Given the description of an element on the screen output the (x, y) to click on. 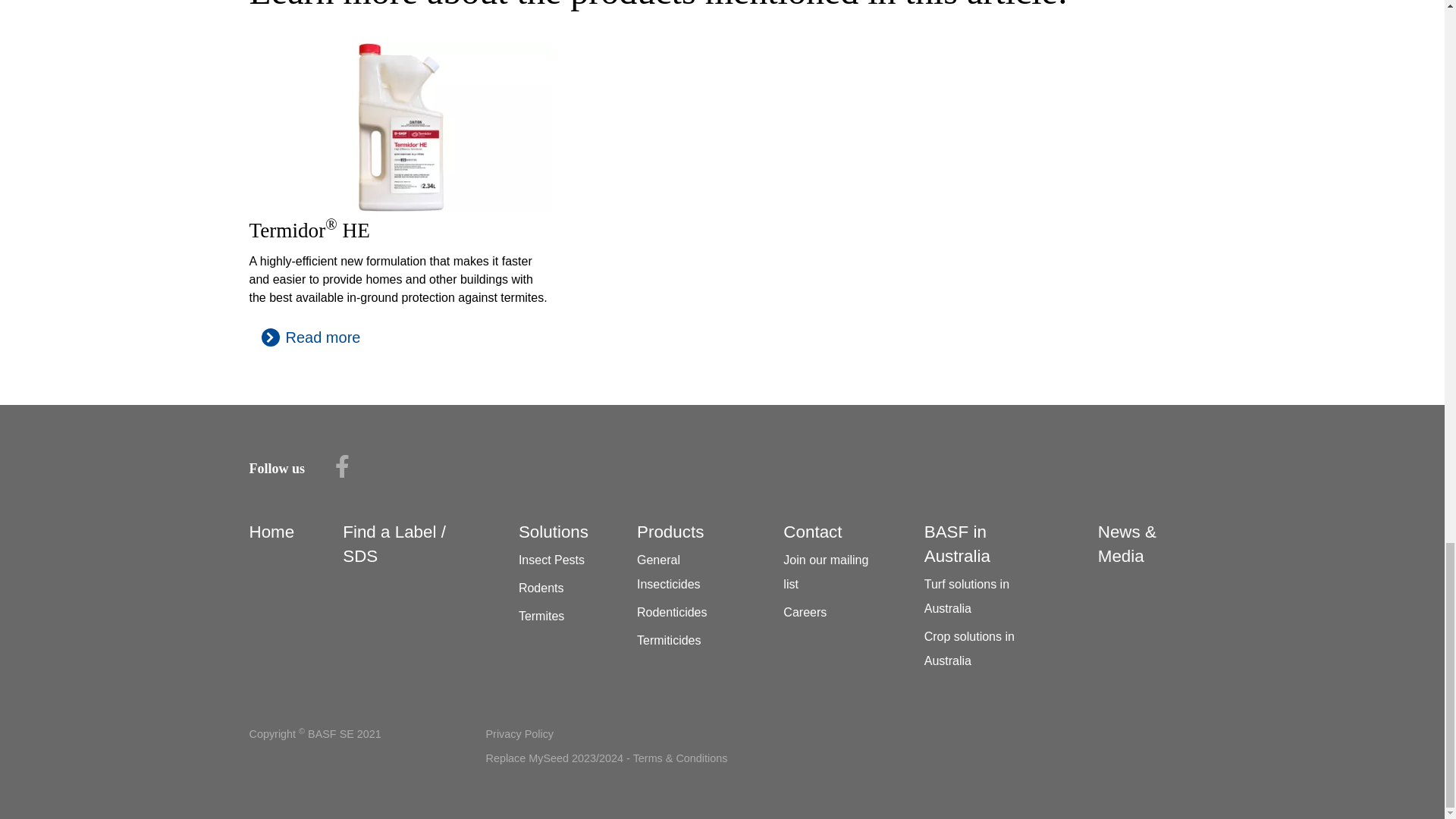
Read more (310, 337)
Home (271, 531)
Termites (541, 615)
Insect Pests (551, 559)
Careers (805, 612)
BASF in Australia (957, 543)
Turf solutions in Australia (966, 596)
Rodenticides (672, 612)
Rodents (541, 587)
Crop solutions in Australia (969, 648)
General Insecticides (668, 571)
Products (670, 531)
Solutions (553, 531)
Termiticides (668, 640)
